Given the description of an element on the screen output the (x, y) to click on. 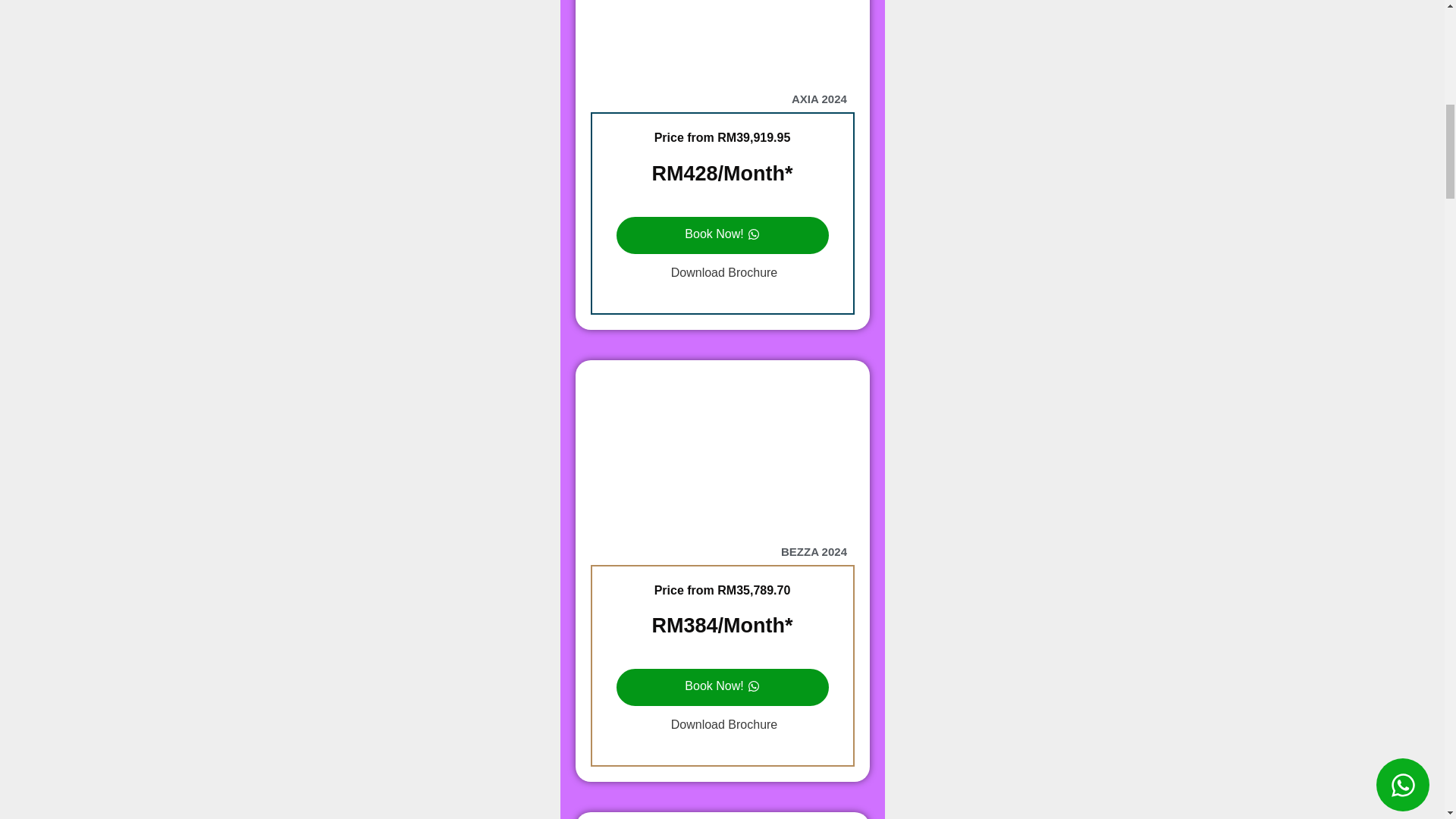
Download Brochure (721, 724)
Book Now! (721, 235)
Download Brochure (721, 272)
Book Now! (721, 687)
